Given the description of an element on the screen output the (x, y) to click on. 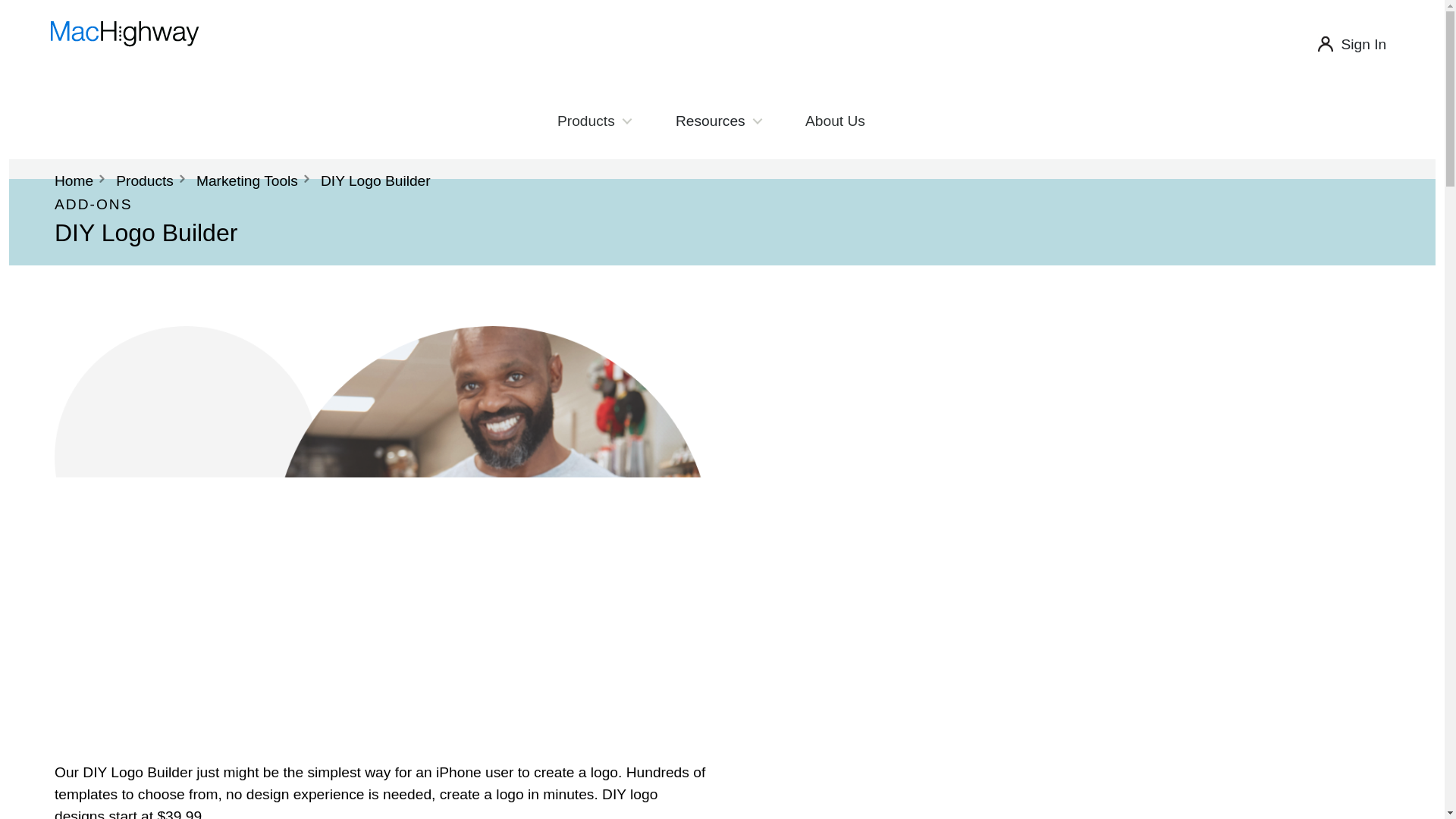
Home (74, 180)
Resources (718, 120)
About Us (834, 120)
Products (593, 120)
Sign In (1363, 44)
